Given the description of an element on the screen output the (x, y) to click on. 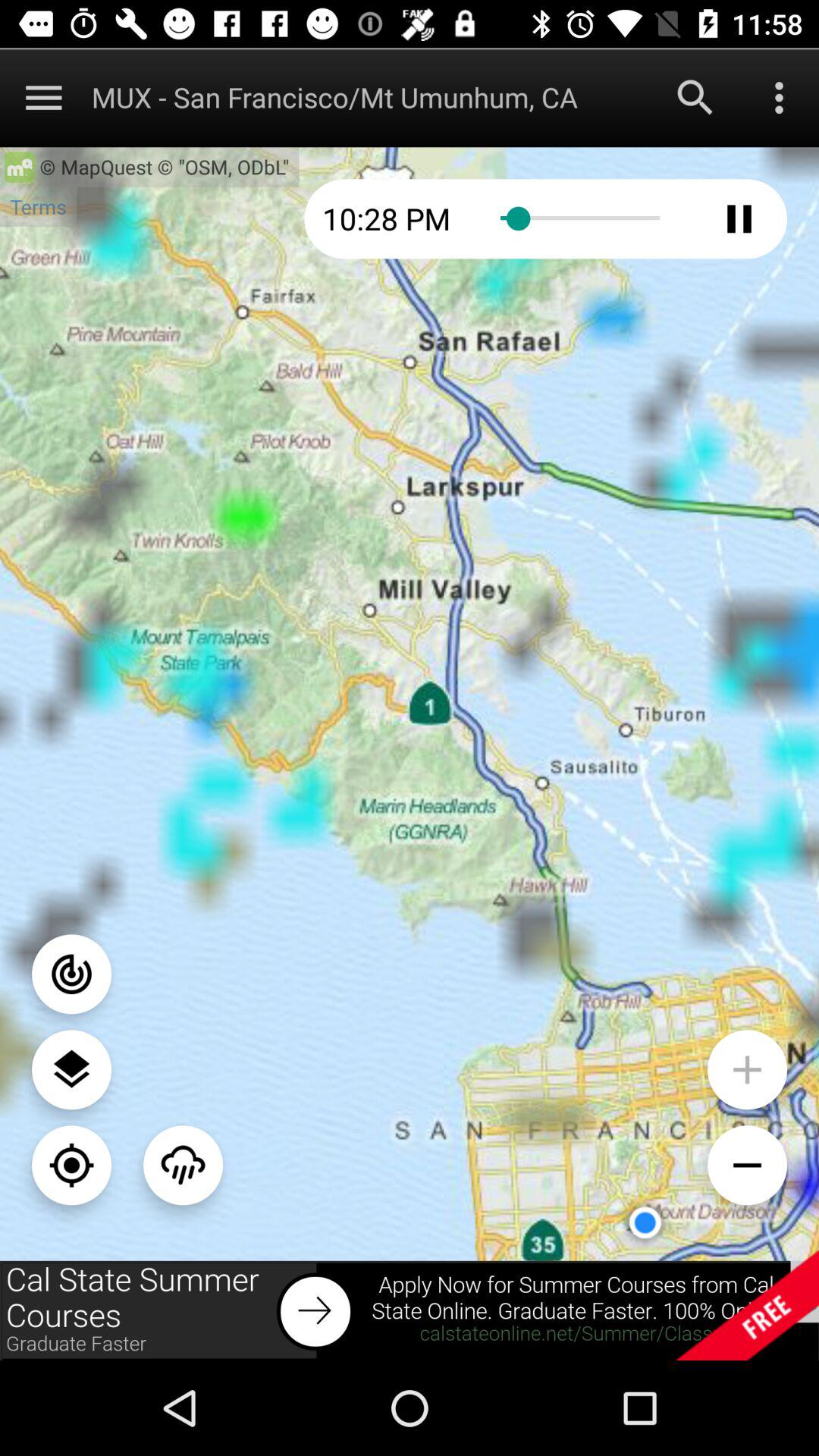
go to play option (739, 218)
